Given the description of an element on the screen output the (x, y) to click on. 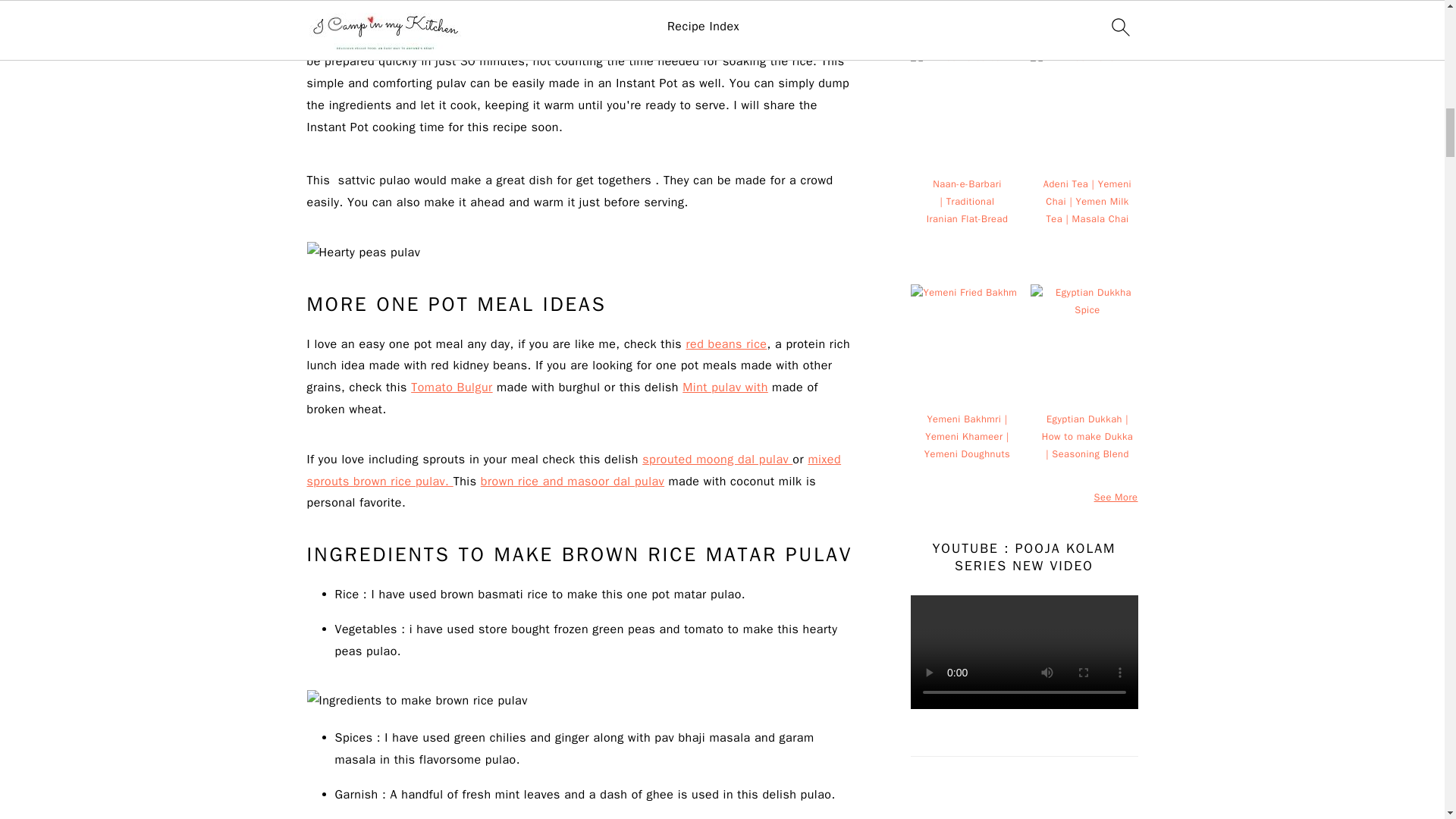
red beans rice (726, 344)
Mint pulav with (725, 387)
Tomato Bulgur (451, 387)
sprouted moong dal pulav (717, 459)
